Given the description of an element on the screen output the (x, y) to click on. 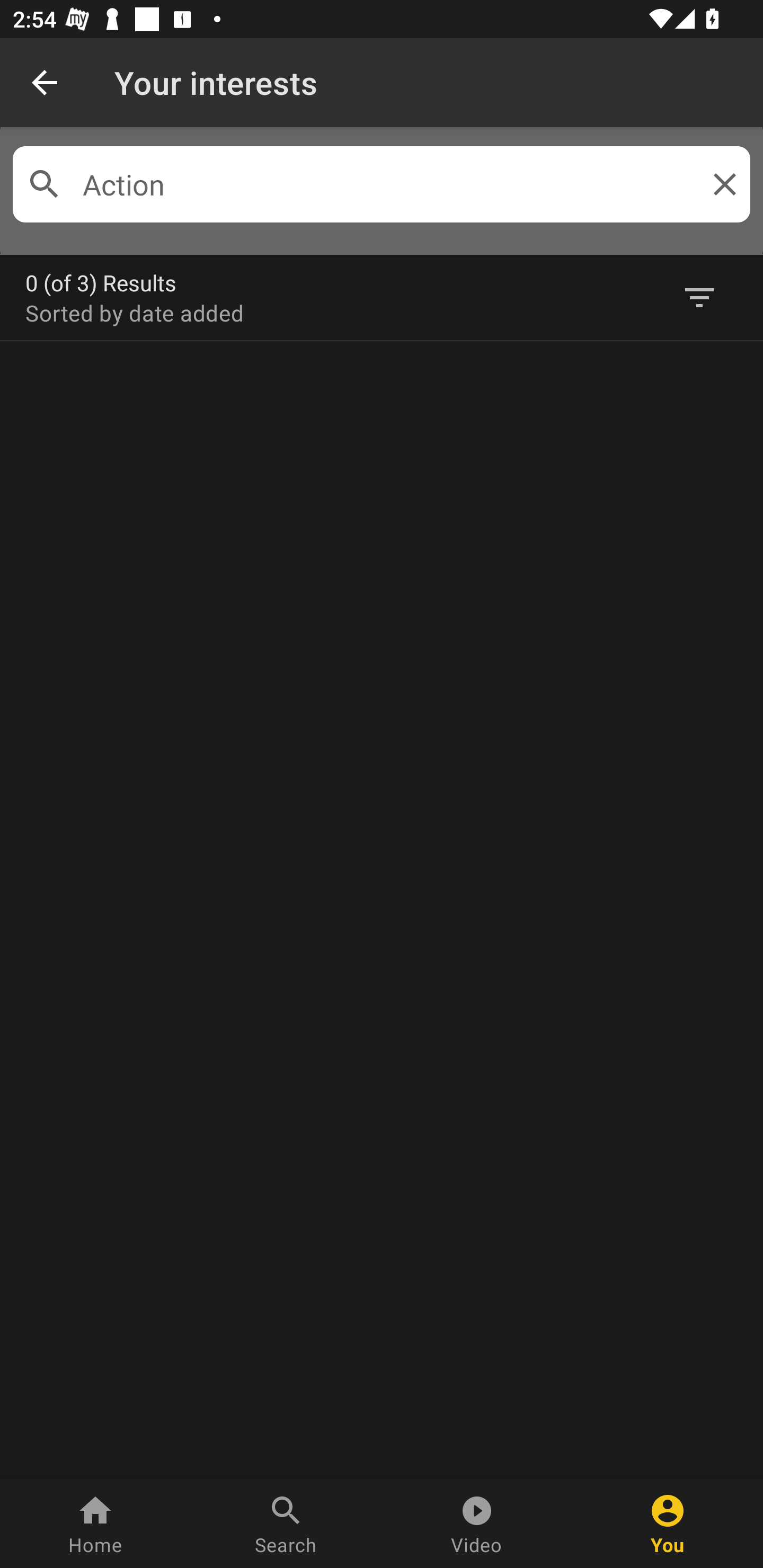
Clear query (721, 183)
Action (381, 184)
Home (95, 1523)
Search (285, 1523)
Video (476, 1523)
